Given the description of an element on the screen output the (x, y) to click on. 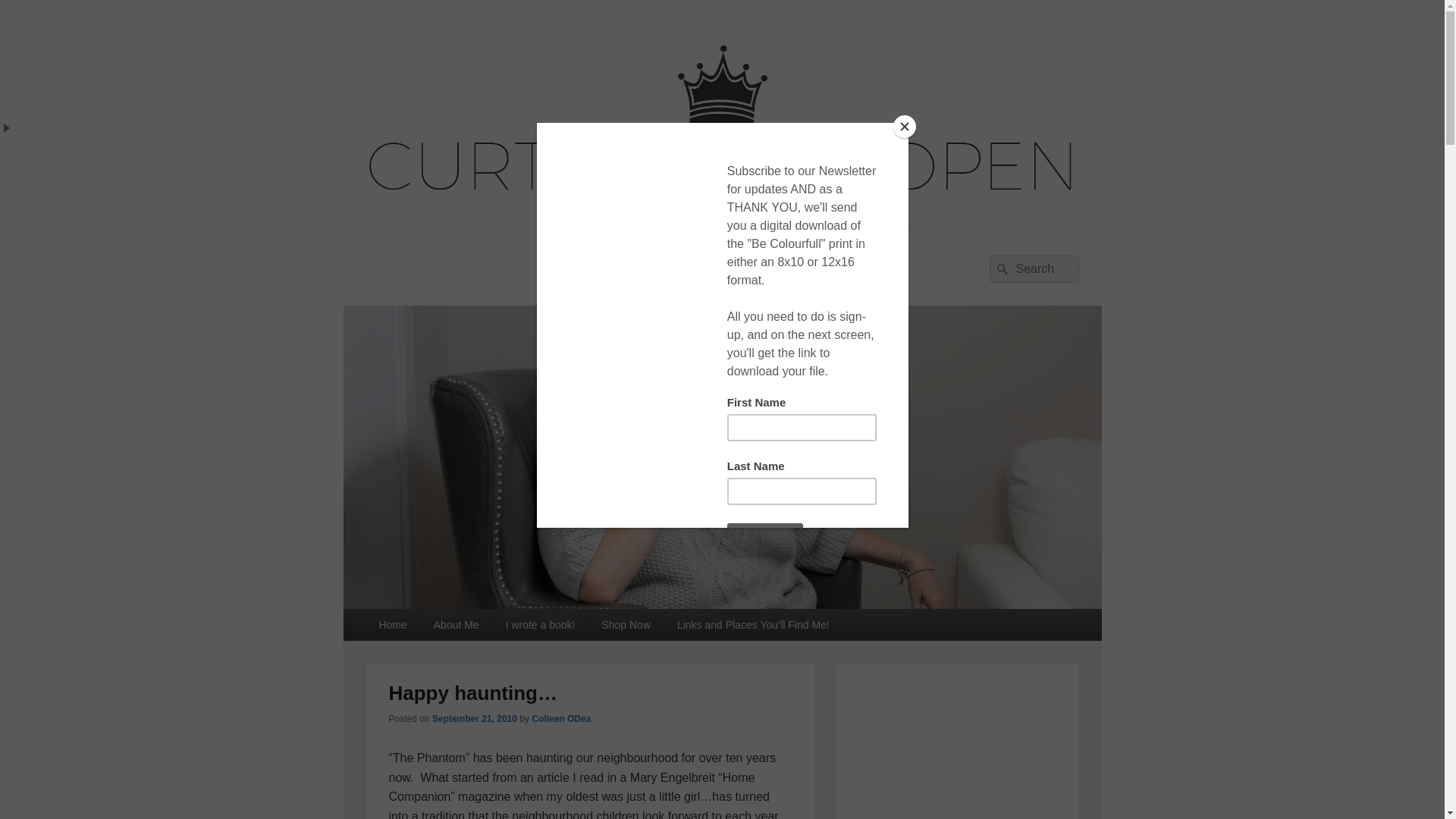
September 21, 2010 (474, 718)
View all posts by Colleen ODea (561, 718)
Curtains are Open (483, 272)
About Me (456, 624)
I wrote a book! (540, 624)
Advertisement (956, 744)
5:55 pm (474, 718)
Home (392, 624)
Search for: (1033, 268)
Curtains are Open (721, 604)
Colleen ODea (561, 718)
Shop Now (625, 624)
